Given the description of an element on the screen output the (x, y) to click on. 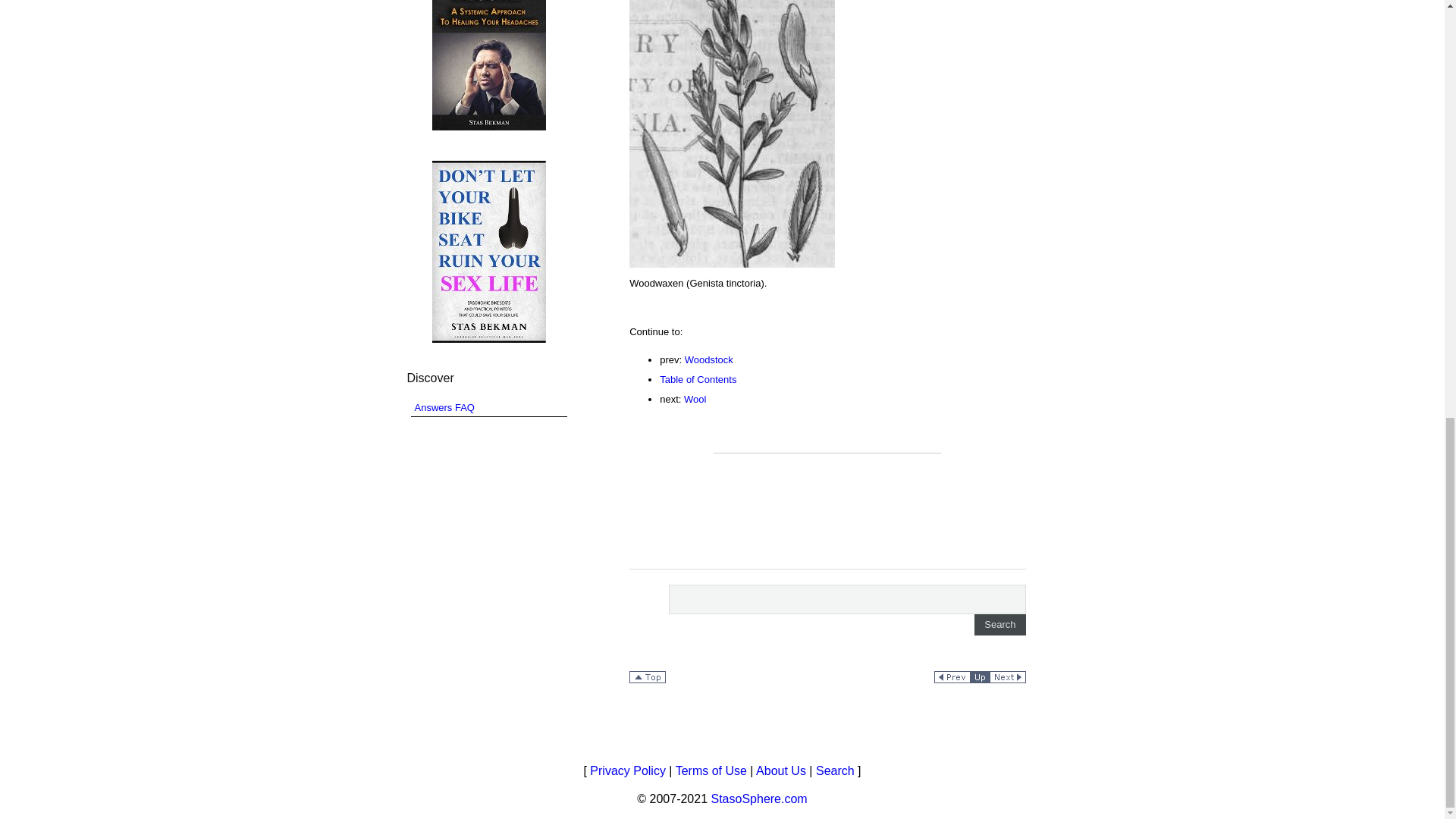
Woodstock (708, 359)
Table of Contents (697, 378)
Search (999, 623)
Wool (695, 398)
Search (999, 623)
